Given the description of an element on the screen output the (x, y) to click on. 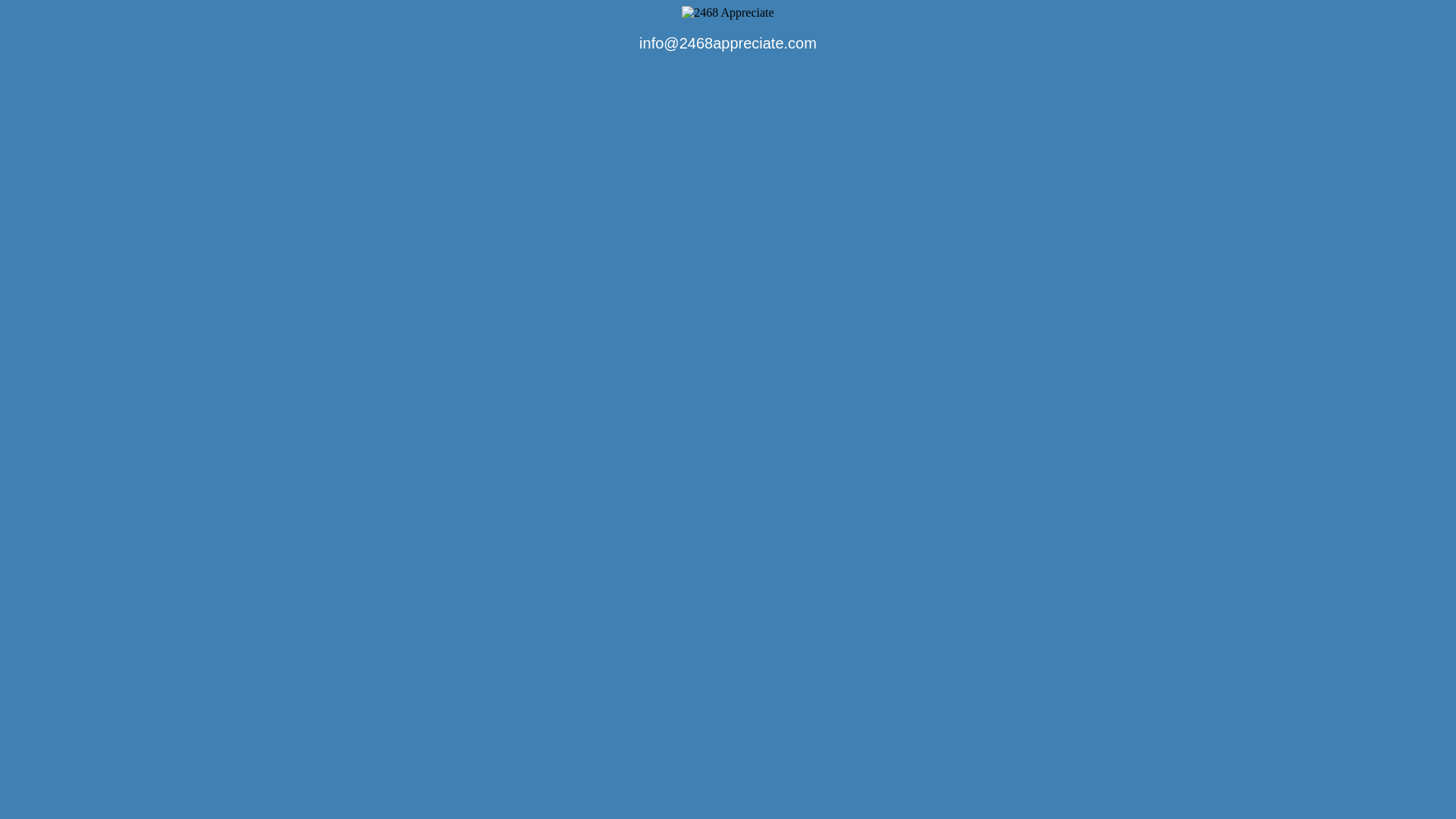
2468 Appreciate Element type: hover (727, 12)
